Given the description of an element on the screen output the (x, y) to click on. 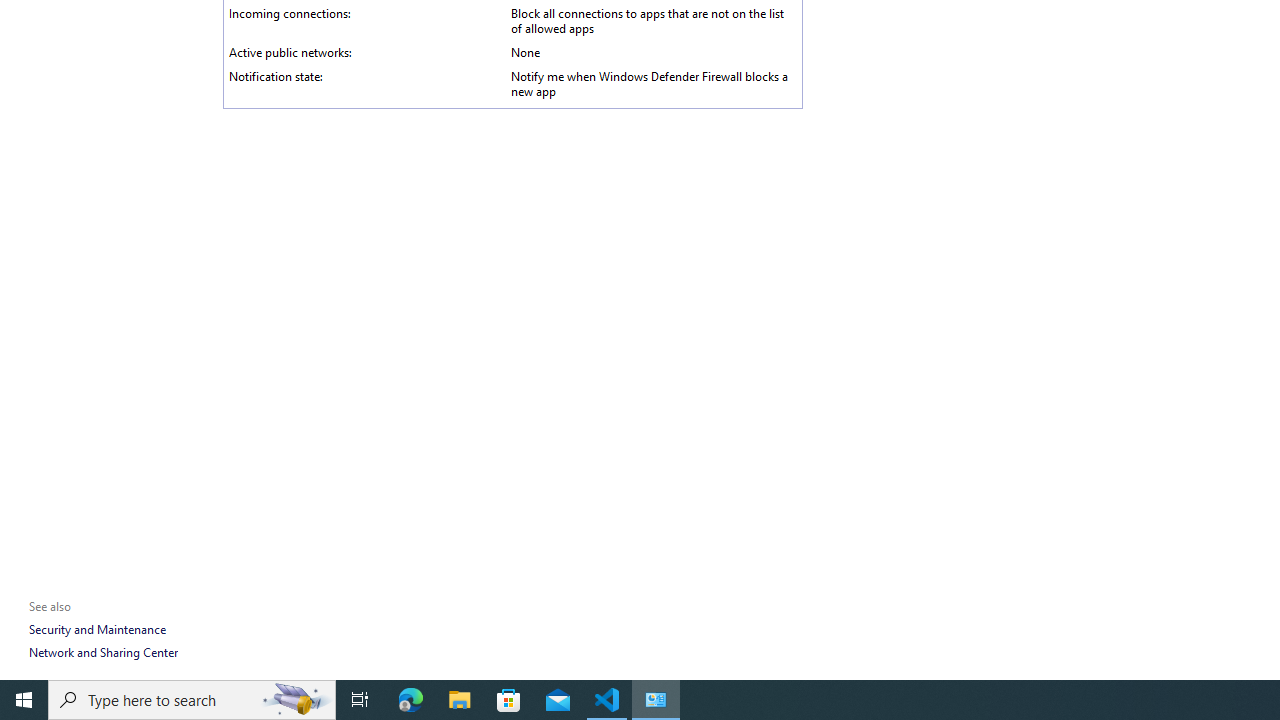
Security and Maintenance (96, 629)
Microsoft Edge (411, 699)
Type here to search (191, 699)
Microsoft Store (509, 699)
File Explorer (460, 699)
Control Panel - 1 running window (656, 699)
Task View (359, 699)
Visual Studio Code - 1 running window (607, 699)
Search highlights icon opens search home window (295, 699)
Start (24, 699)
Network and Sharing Center (103, 652)
